Given the description of an element on the screen output the (x, y) to click on. 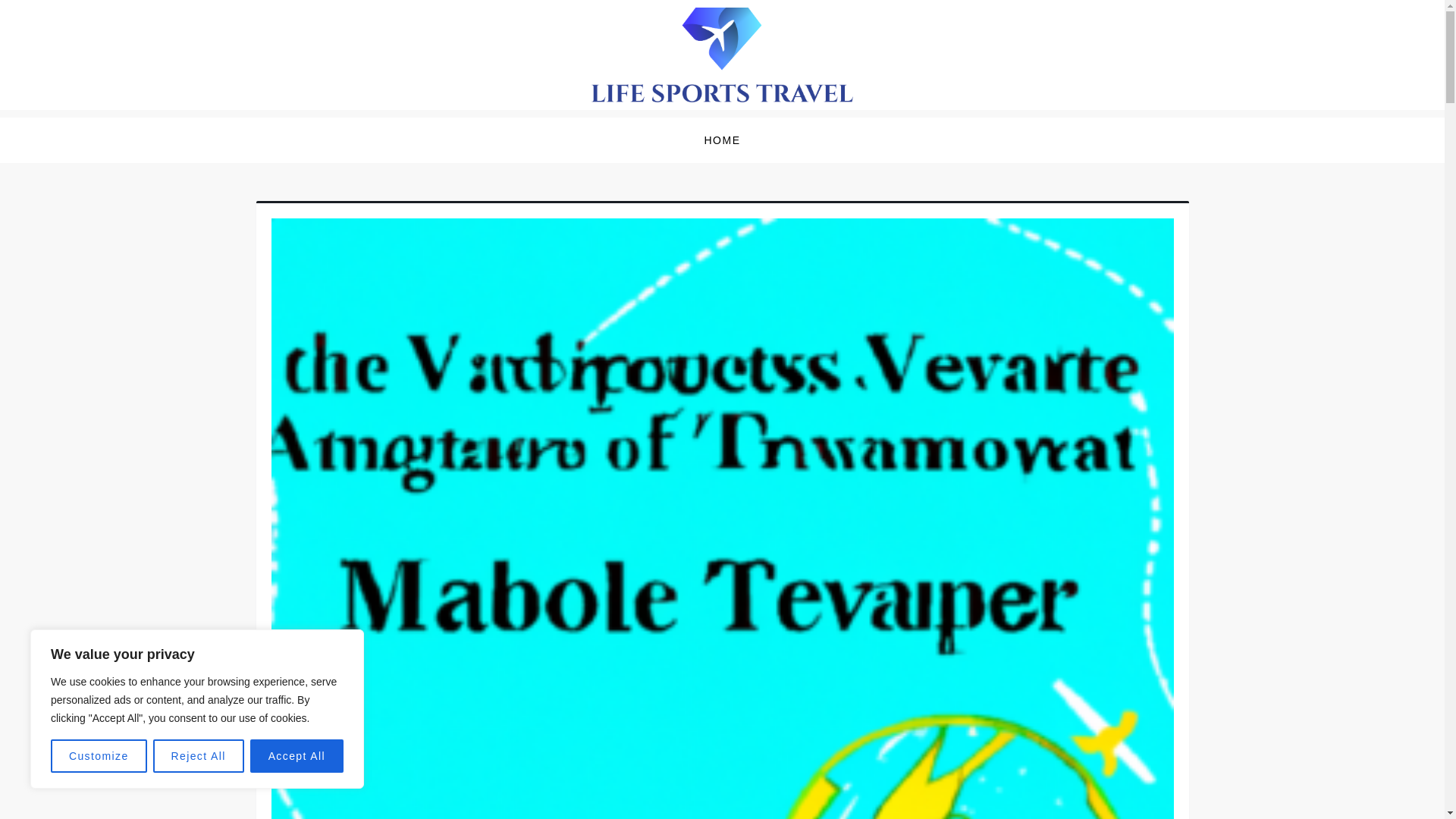
HOME (722, 139)
Reject All (198, 756)
Customize (98, 756)
LifeSportTravel: Adventure Awaits in Every Corner (592, 120)
Accept All (296, 756)
